Given the description of an element on the screen output the (x, y) to click on. 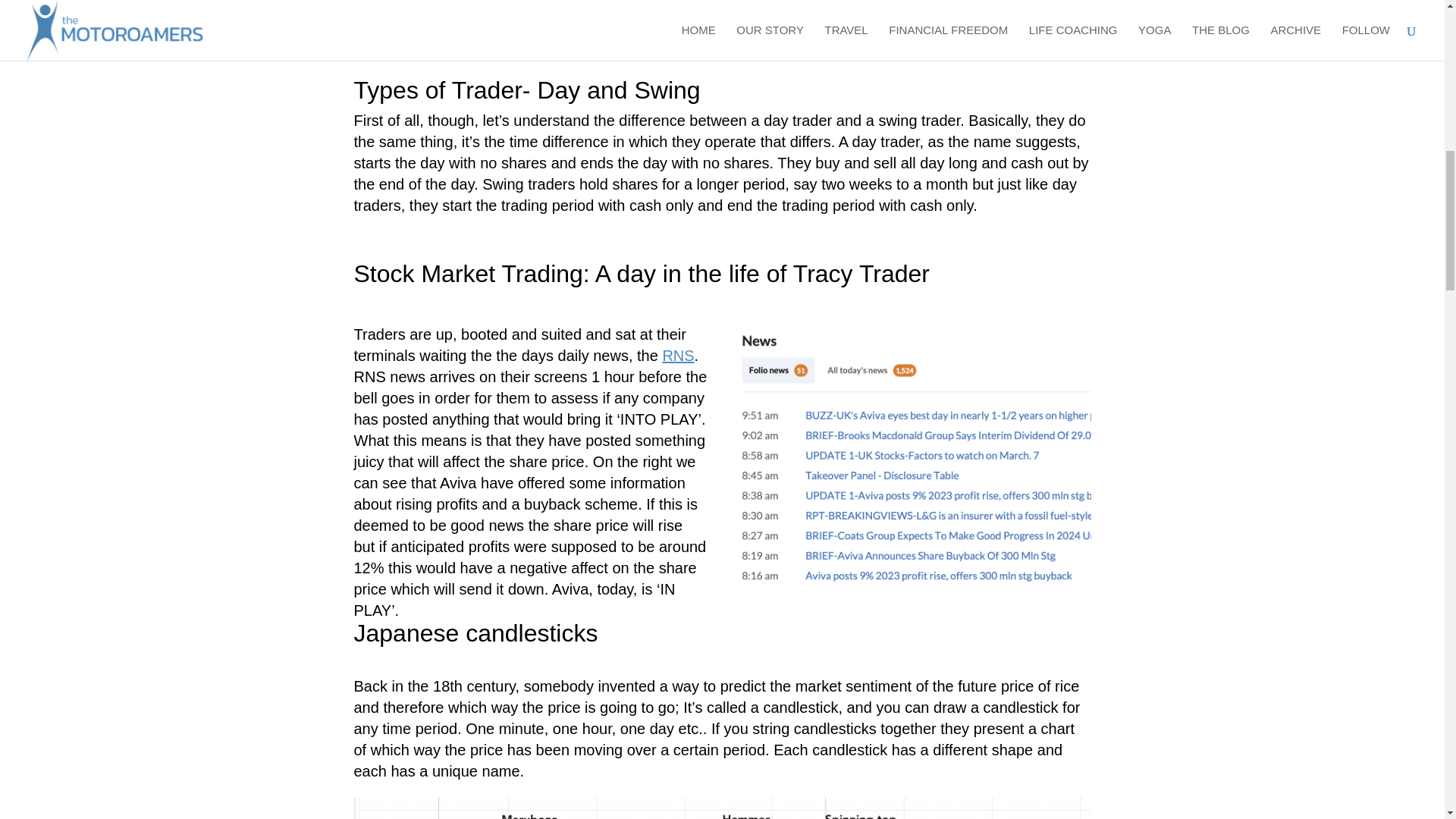
RNS (678, 355)
